Given the description of an element on the screen output the (x, y) to click on. 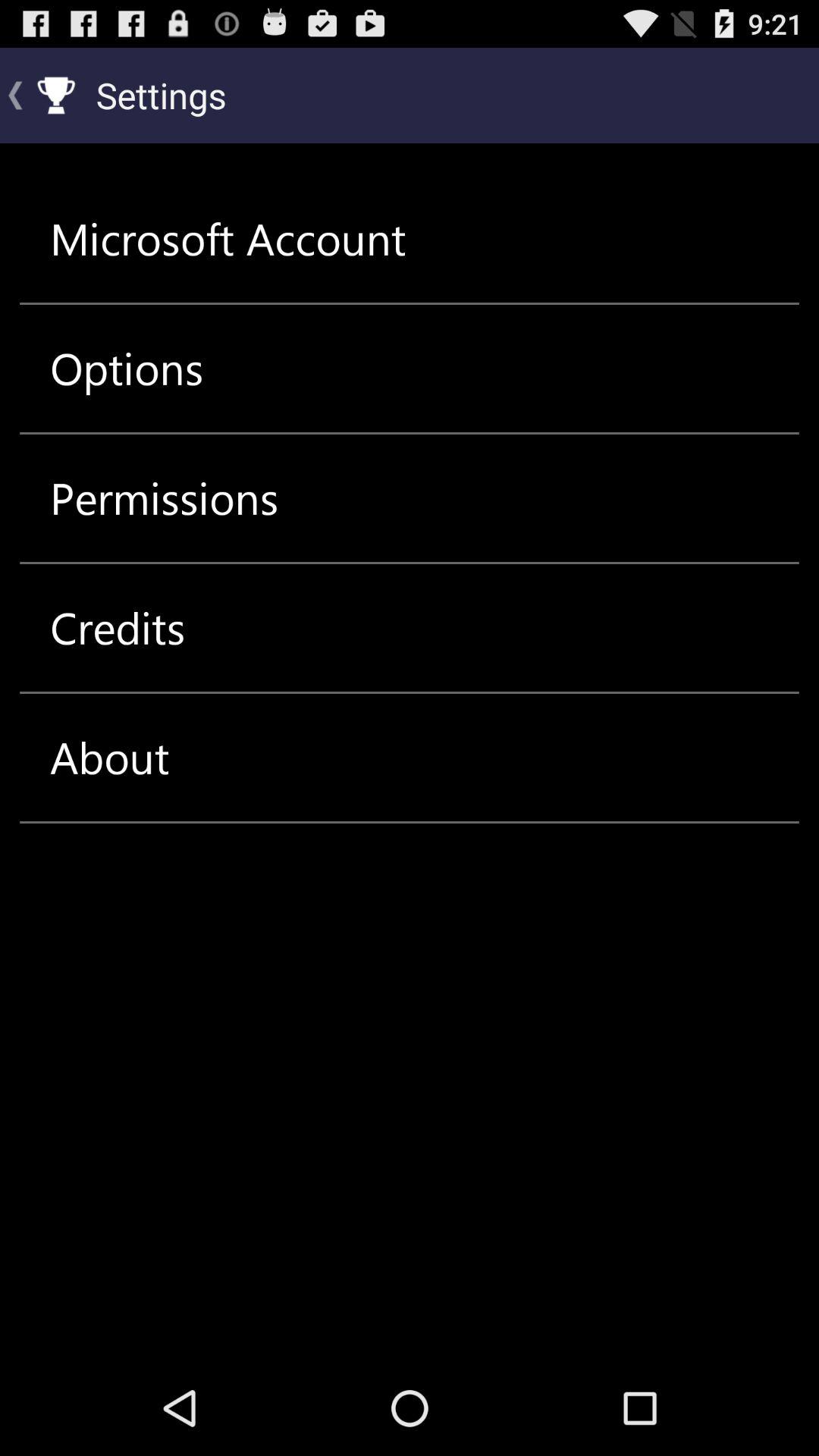
flip until credits (117, 627)
